Given the description of an element on the screen output the (x, y) to click on. 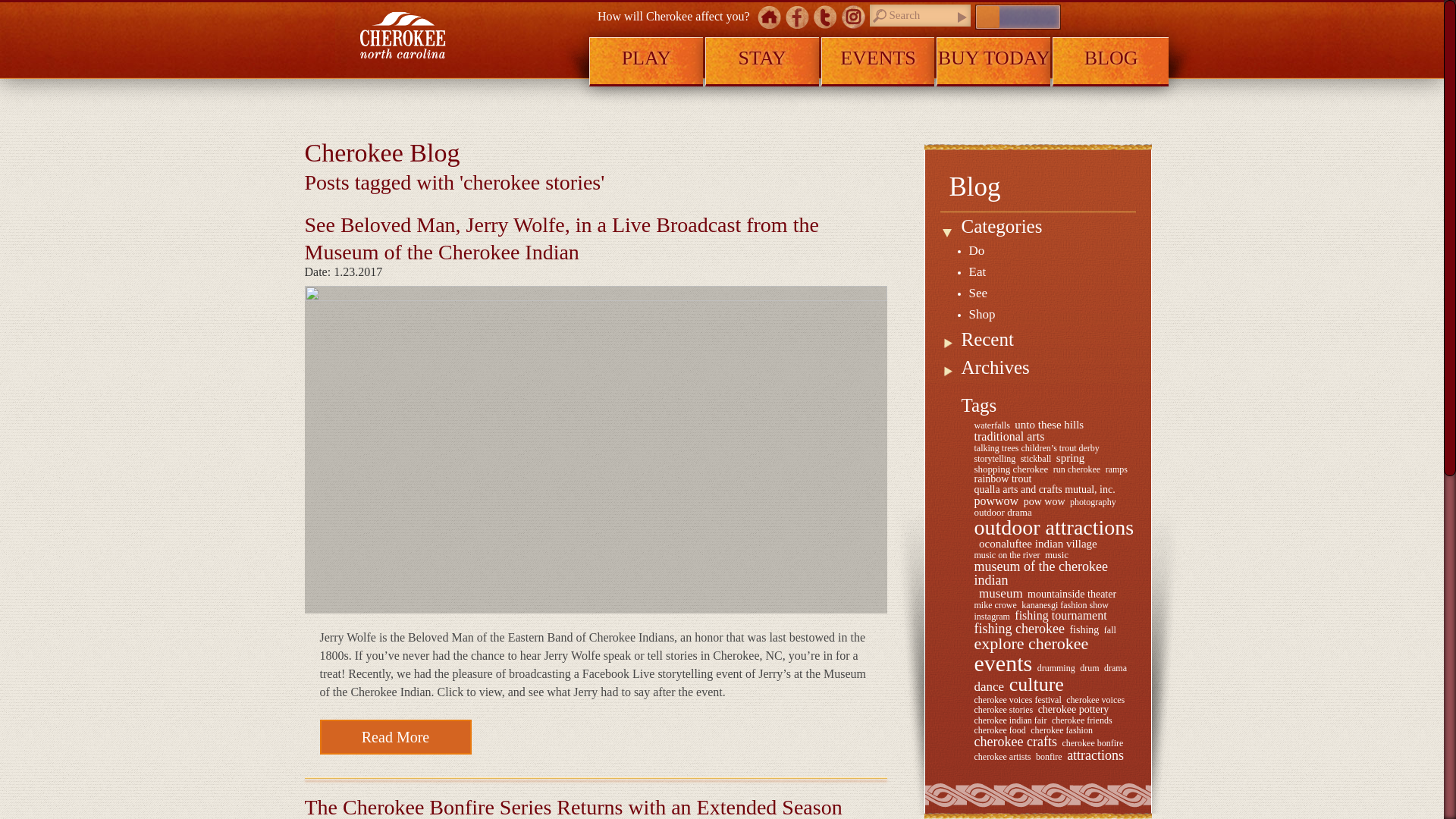
stickball (1035, 458)
waterfalls (991, 424)
storytelling (994, 458)
ramps (1115, 469)
unto these hills (1048, 424)
run cherokee (1076, 469)
pow wow (1044, 501)
photography (1093, 501)
outdoor drama (1002, 511)
powwow (995, 500)
traditional arts (1008, 436)
spring (1070, 458)
January 23rd, 2017 (595, 272)
rainbow trout (1002, 479)
shopping cherokee (1011, 469)
